Given the description of an element on the screen output the (x, y) to click on. 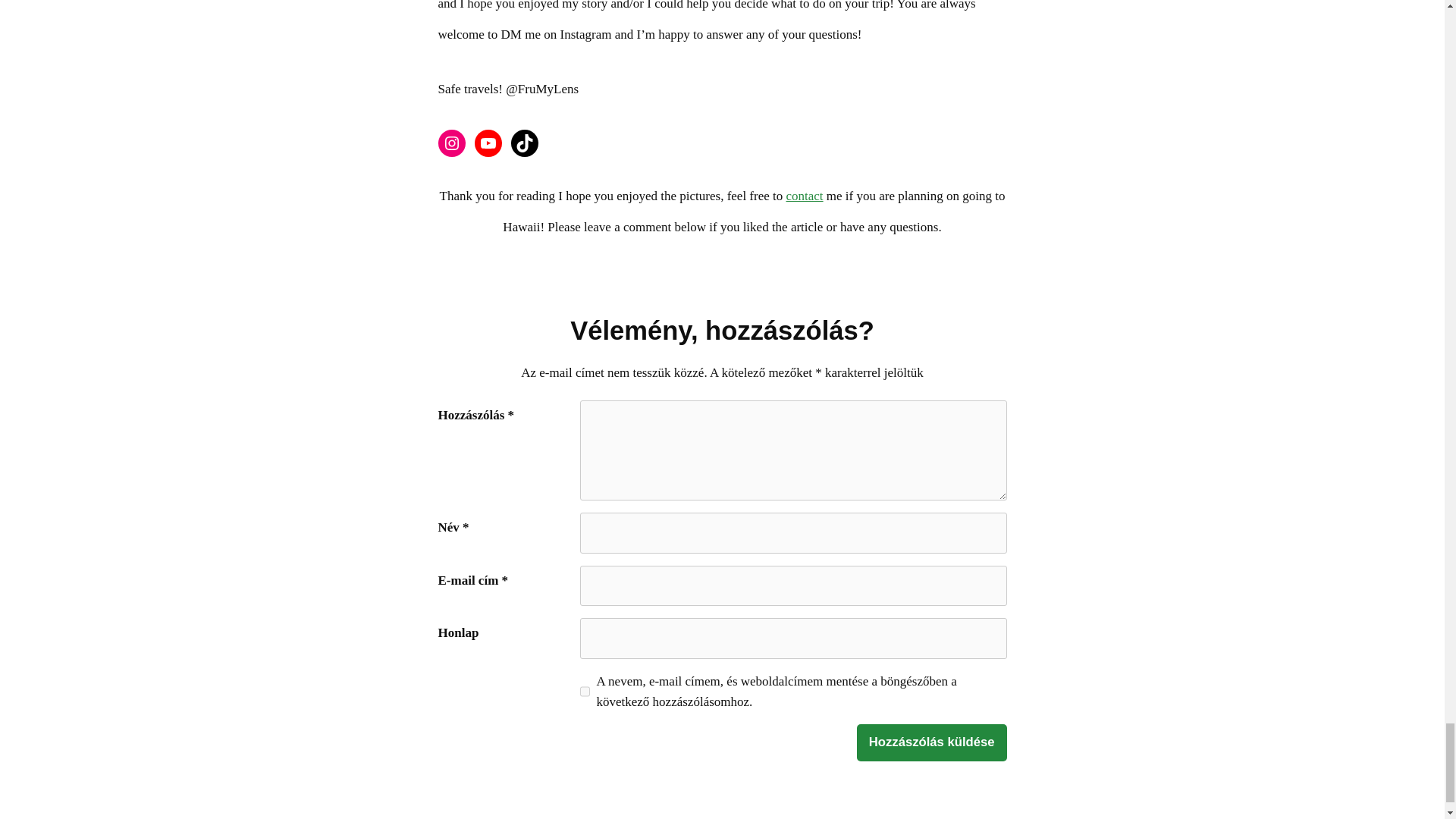
Instagram (451, 143)
TikTok (524, 143)
contact (804, 196)
YouTube (488, 143)
